Given the description of an element on the screen output the (x, y) to click on. 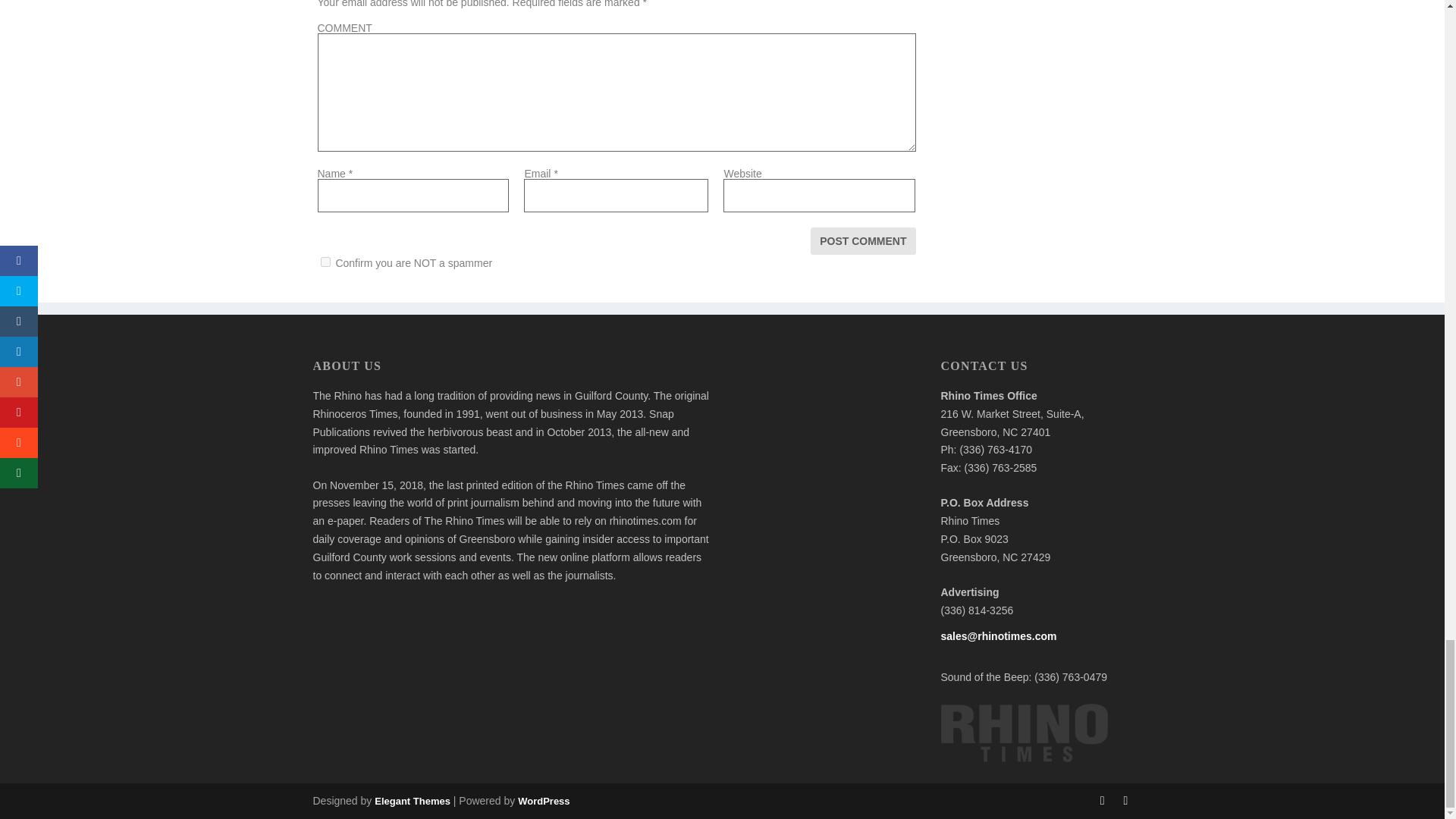
Post Comment (862, 240)
on (325, 261)
Premium WordPress Themes (411, 800)
